Given the description of an element on the screen output the (x, y) to click on. 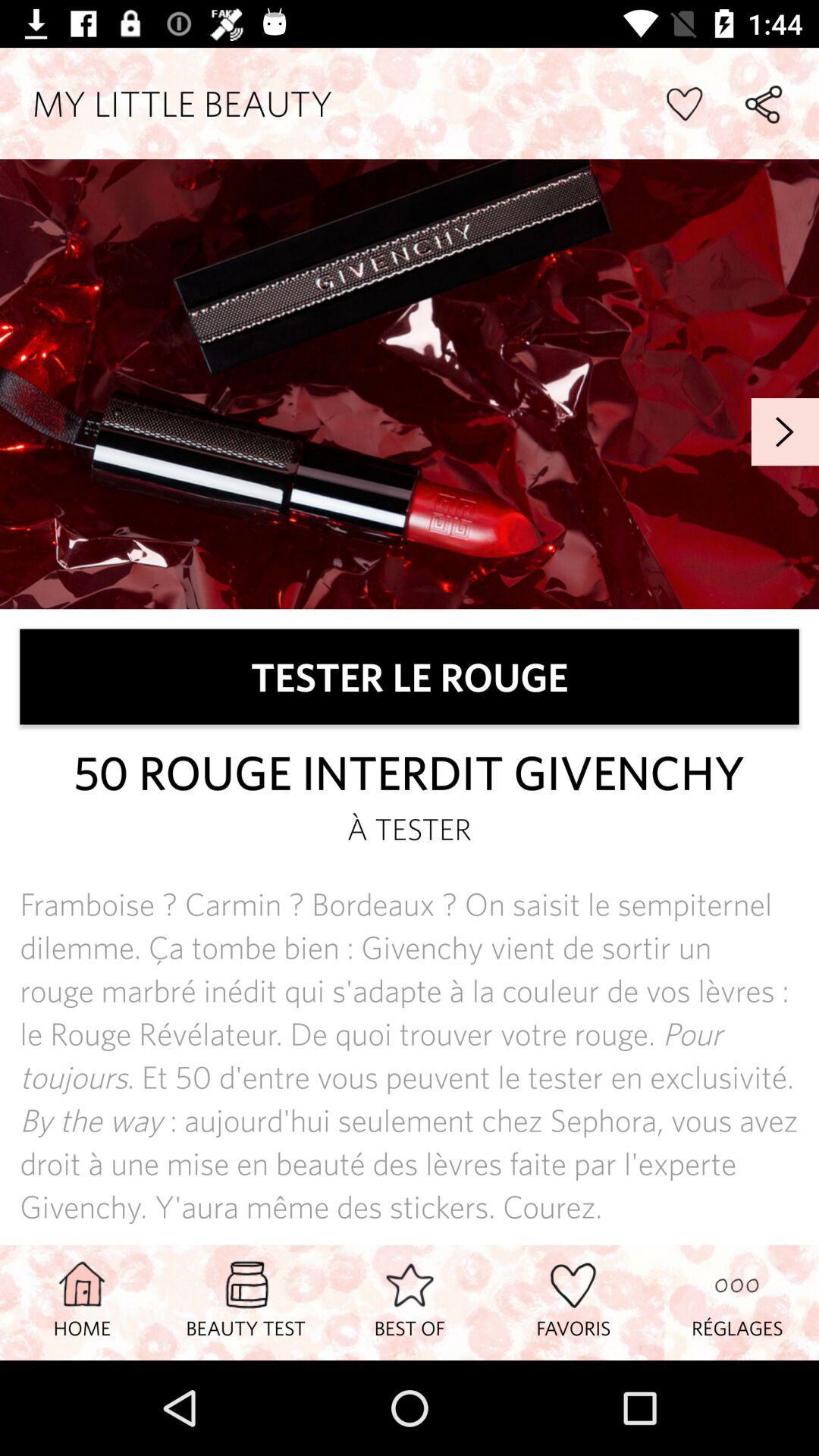
showing picture (409, 384)
